Given the description of an element on the screen output the (x, y) to click on. 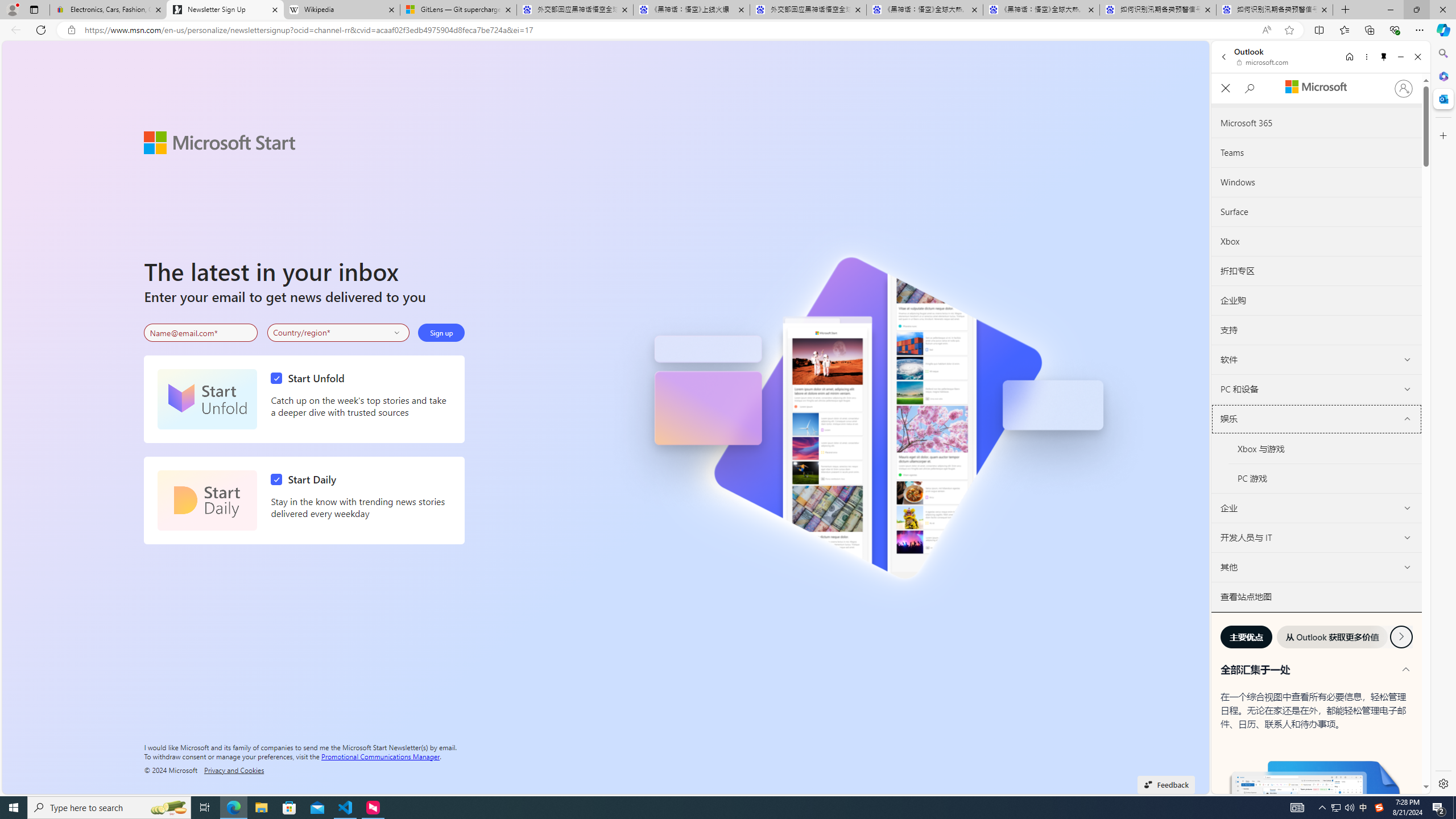
Xbox (1316, 241)
Newsletter Sign Up (224, 9)
